Given the description of an element on the screen output the (x, y) to click on. 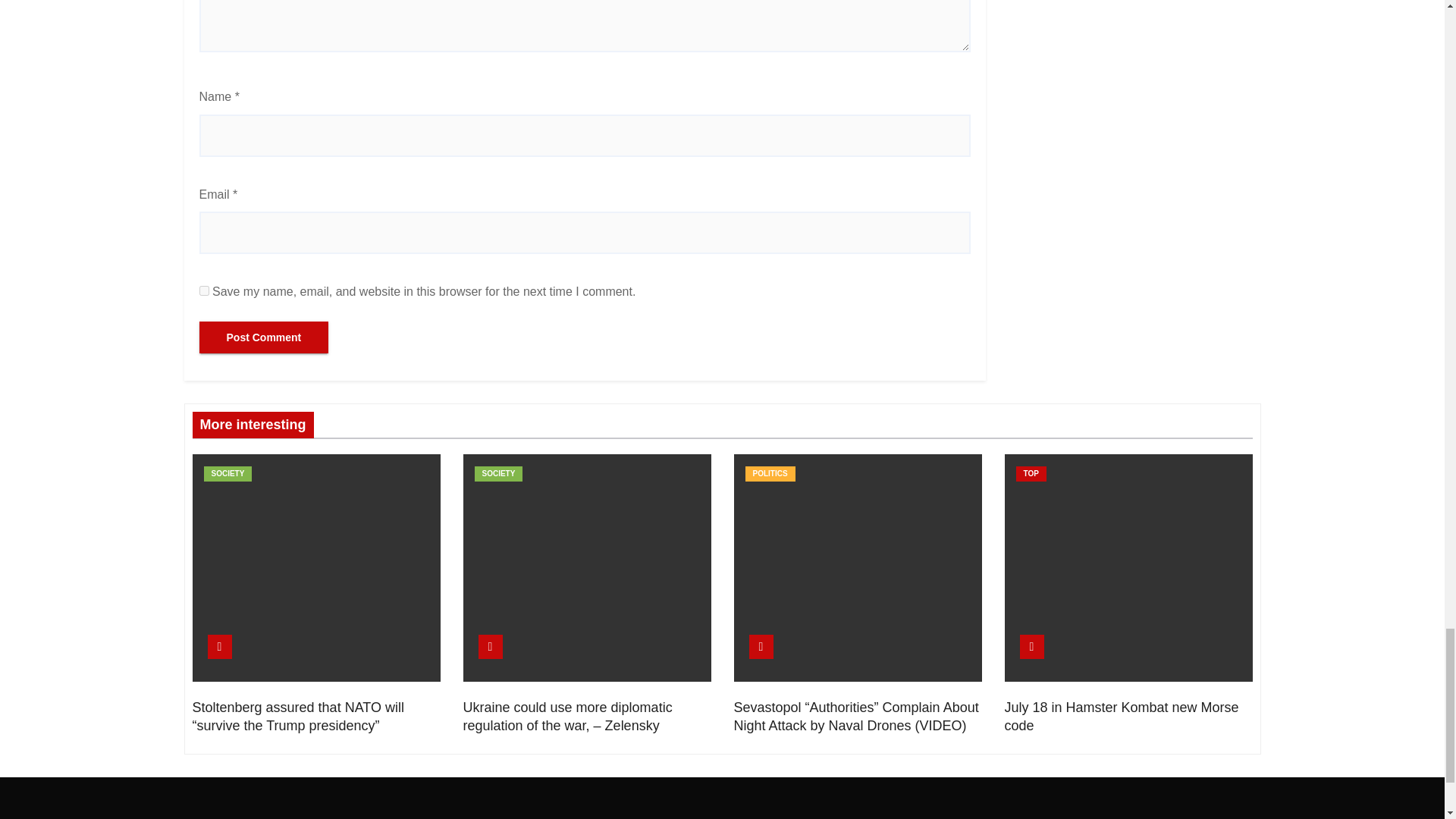
Post Comment (263, 336)
yes (203, 290)
